Given the description of an element on the screen output the (x, y) to click on. 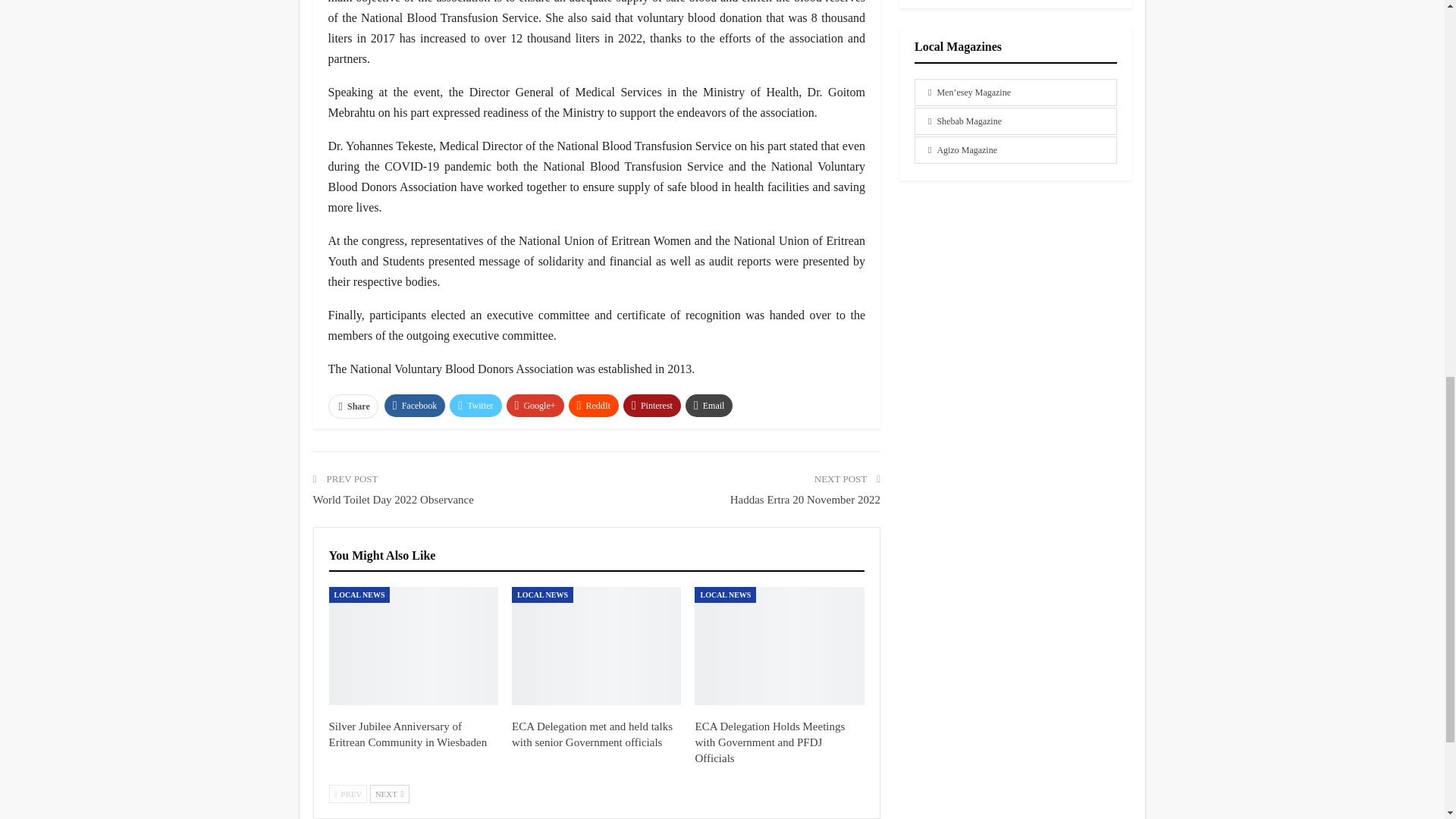
Next (389, 793)
Previous (348, 793)
